Given the description of an element on the screen output the (x, y) to click on. 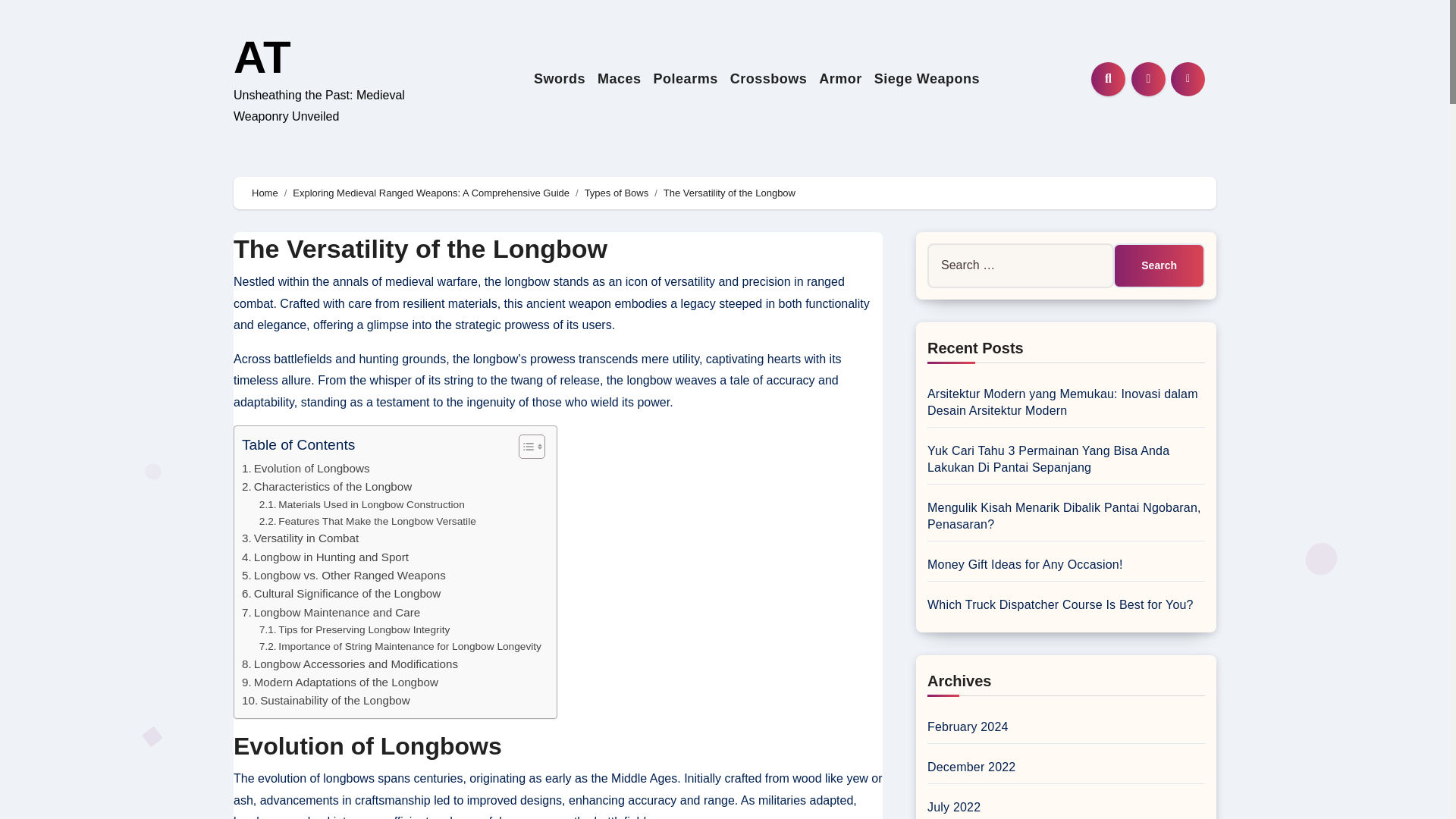
Longbow Maintenance and Care (330, 612)
Longbow vs. Other Ranged Weapons (343, 575)
Longbow in Hunting and Sport (325, 556)
Modern Adaptations of the Longbow (339, 682)
Types of Bows (617, 193)
Cultural Significance of the Longbow (341, 593)
Tips for Preserving Longbow Integrity (354, 629)
Versatility in Combat (299, 538)
Features That Make the Longbow Versatile (367, 521)
Longbow in Hunting and Sport (325, 556)
